Given the description of an element on the screen output the (x, y) to click on. 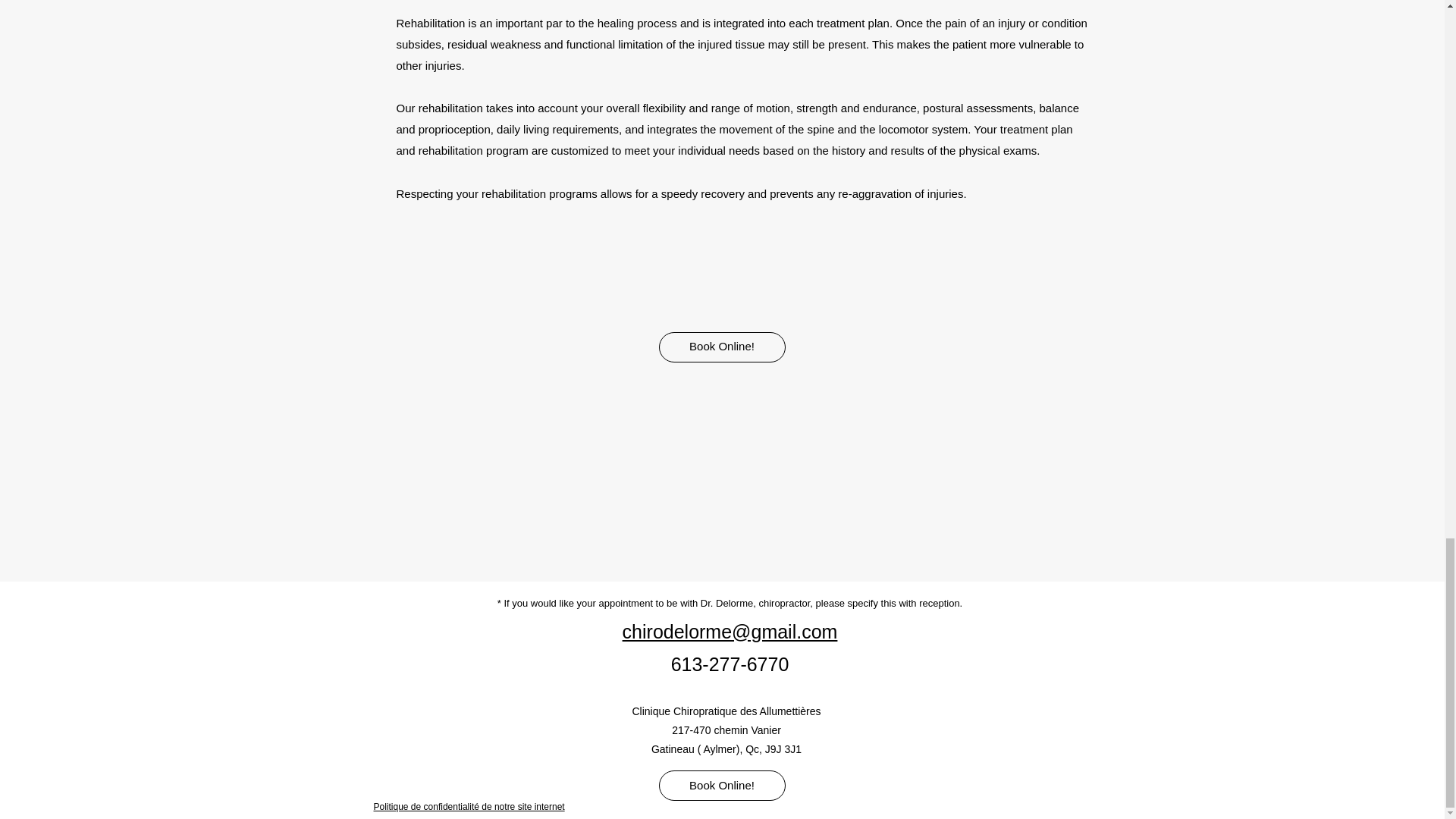
Book Online! (721, 346)
Book Online! (721, 785)
